Given the description of an element on the screen output the (x, y) to click on. 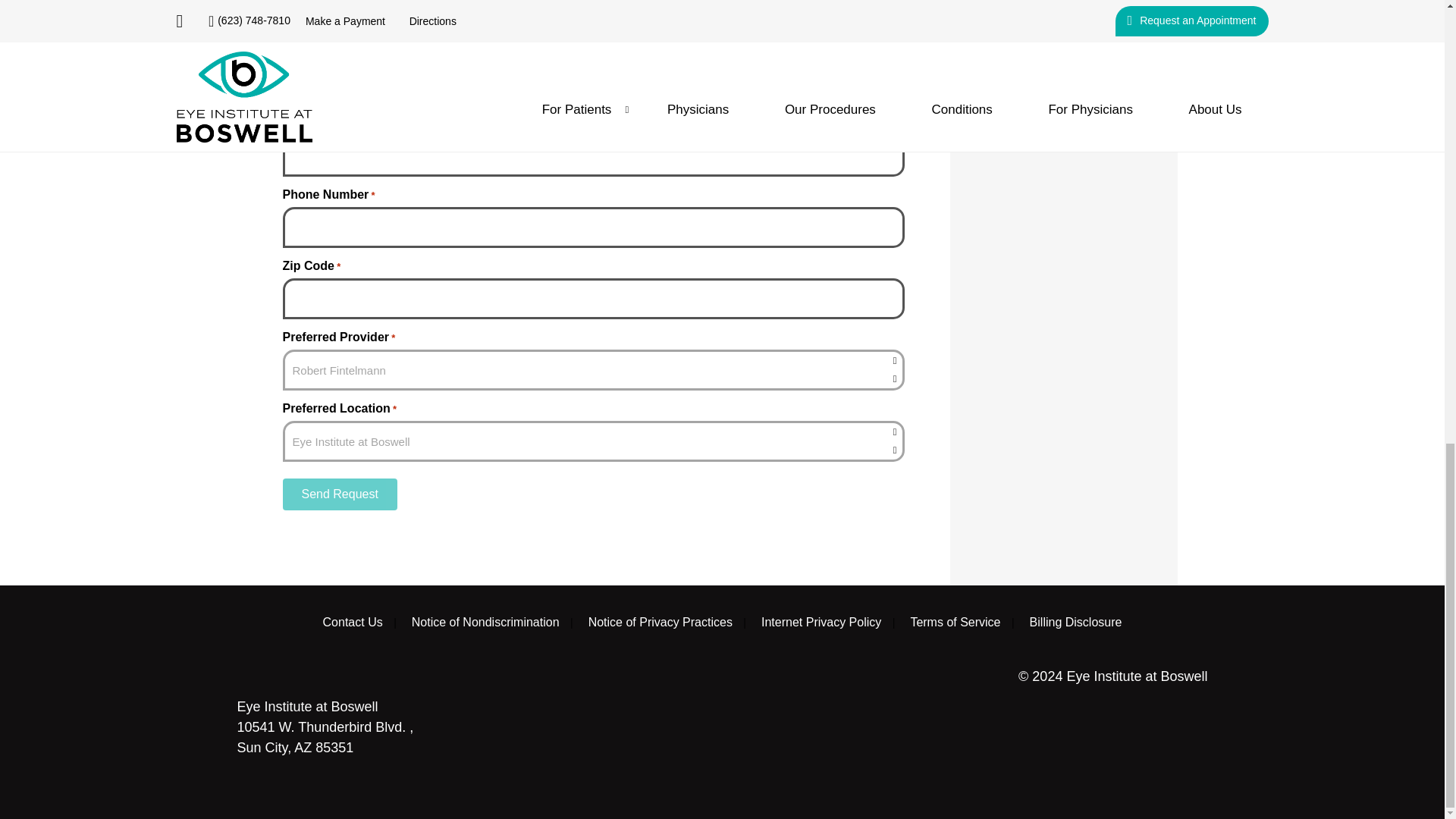
Send Request (339, 494)
Send Request (339, 494)
